Given the description of an element on the screen output the (x, y) to click on. 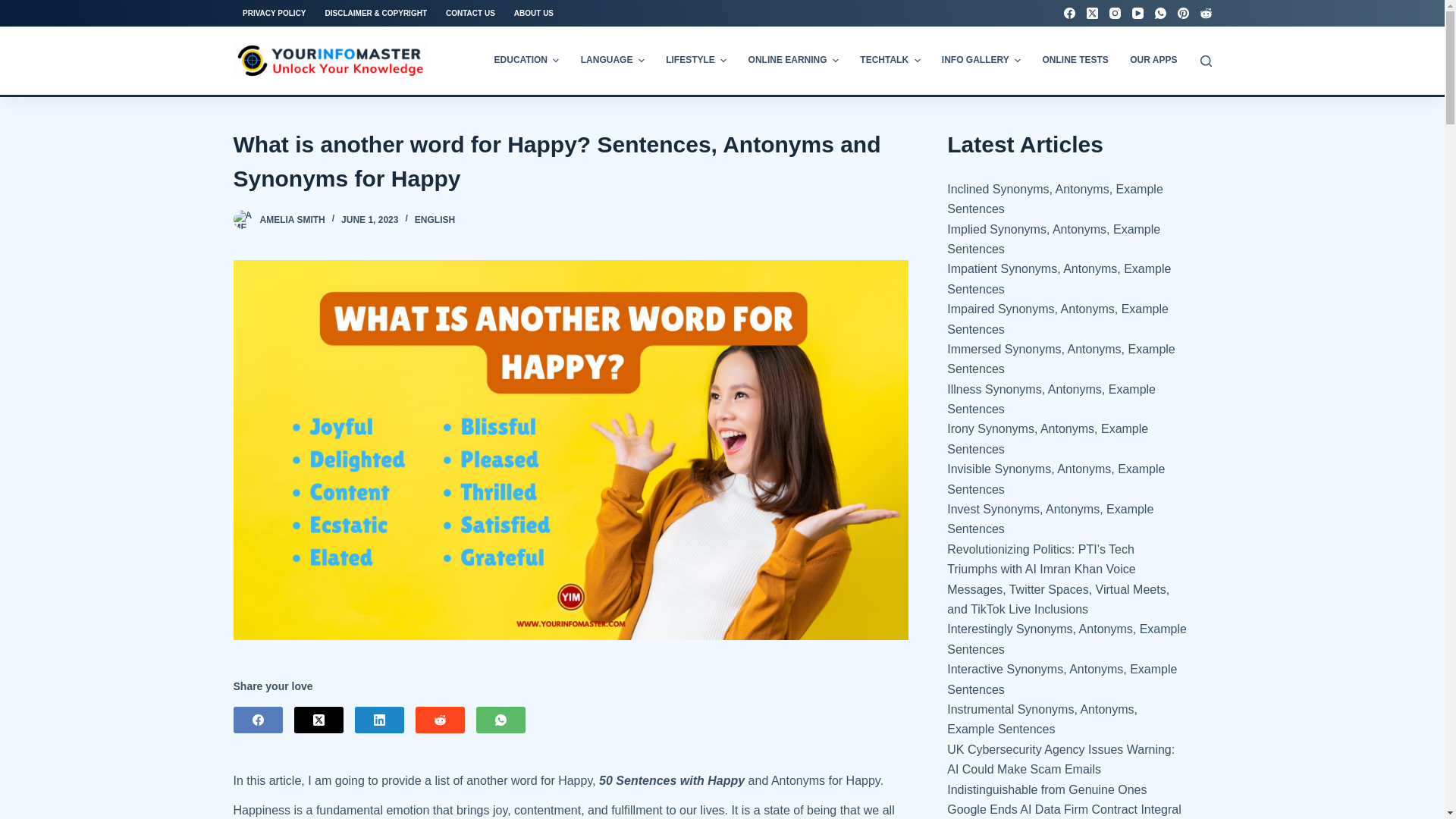
Skip to content (15, 7)
Posts by Amelia Smith (291, 219)
